Given the description of an element on the screen output the (x, y) to click on. 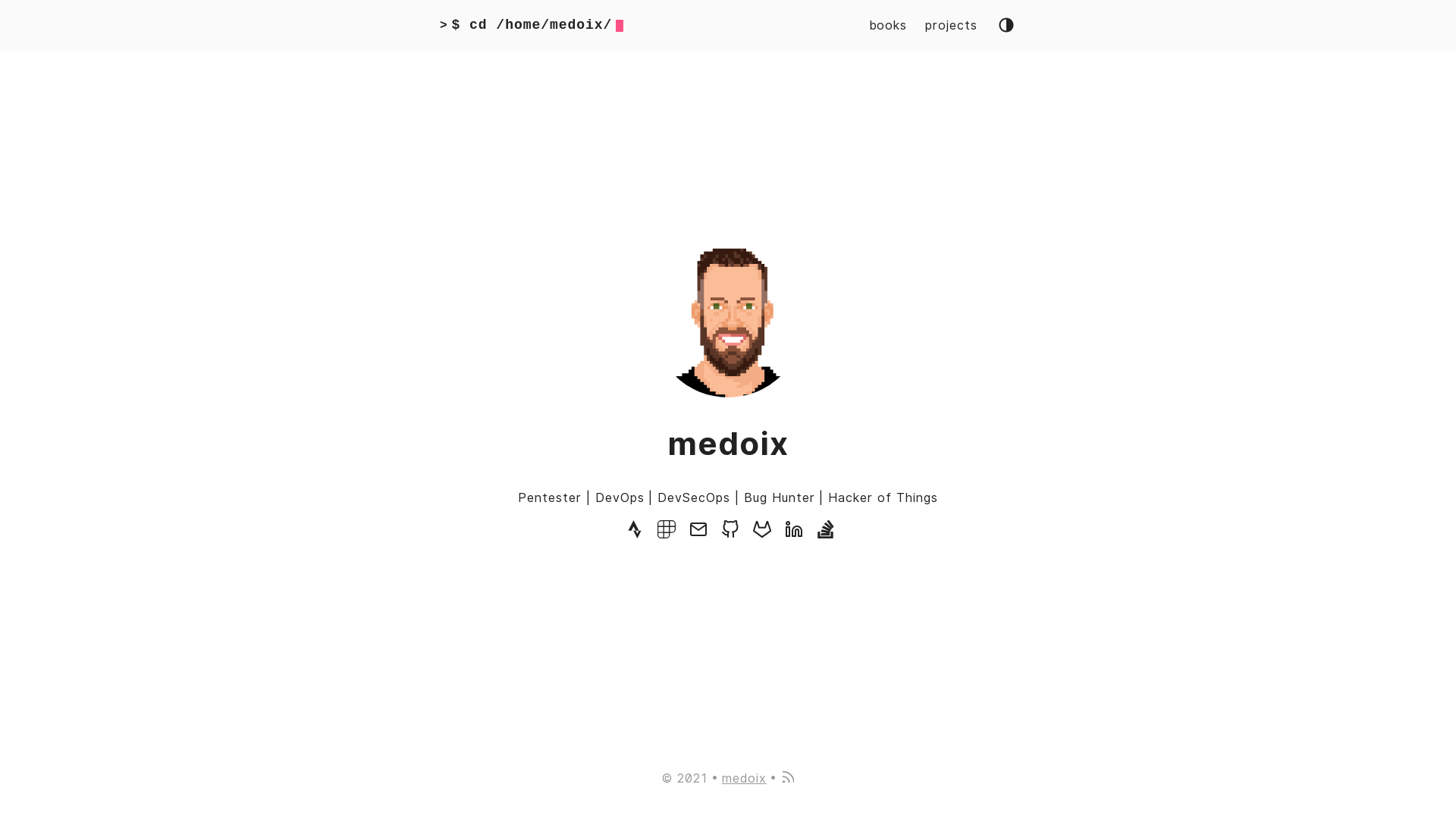
projects Element type: text (951, 25)
Gitlab Element type: hover (762, 534)
Linkedin Element type: hover (793, 534)
books Element type: text (887, 25)
Github Element type: hover (730, 534)
Email Element type: hover (698, 534)
Stackoverflow Element type: hover (825, 534)
>
$ cd /home/medoix/ Element type: text (531, 25)
Polywork Element type: hover (666, 534)
rss Element type: hover (786, 778)
medoix Element type: text (743, 778)
Strava Element type: hover (634, 534)
